Given the description of an element on the screen output the (x, y) to click on. 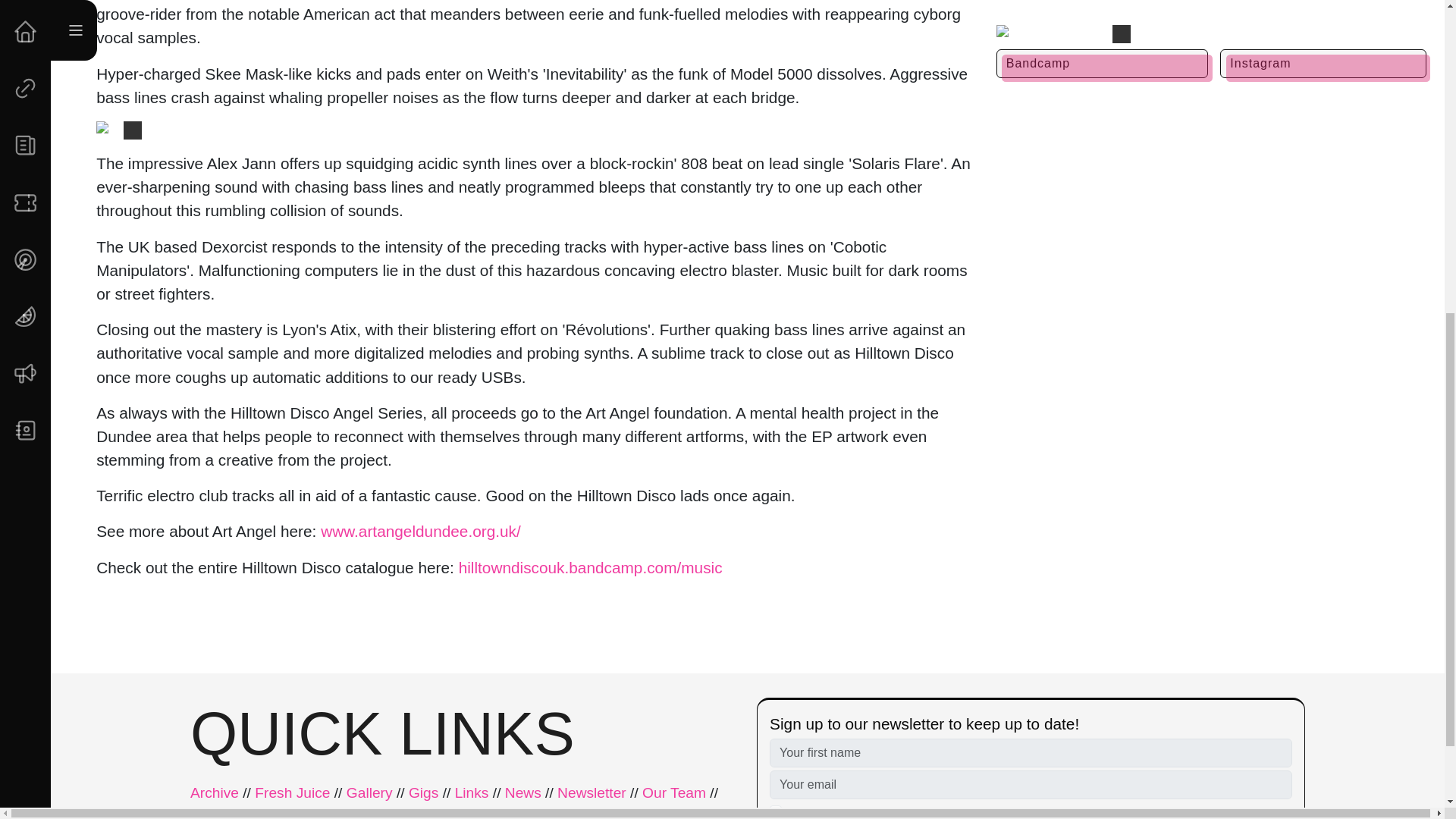
Fresh Juice (292, 793)
Our Team (674, 793)
Newsletter (591, 793)
Privacy Policy (889, 810)
Gigs (423, 793)
News (523, 793)
Archive (214, 793)
Links (471, 793)
Gallery (369, 793)
on (775, 811)
